Given the description of an element on the screen output the (x, y) to click on. 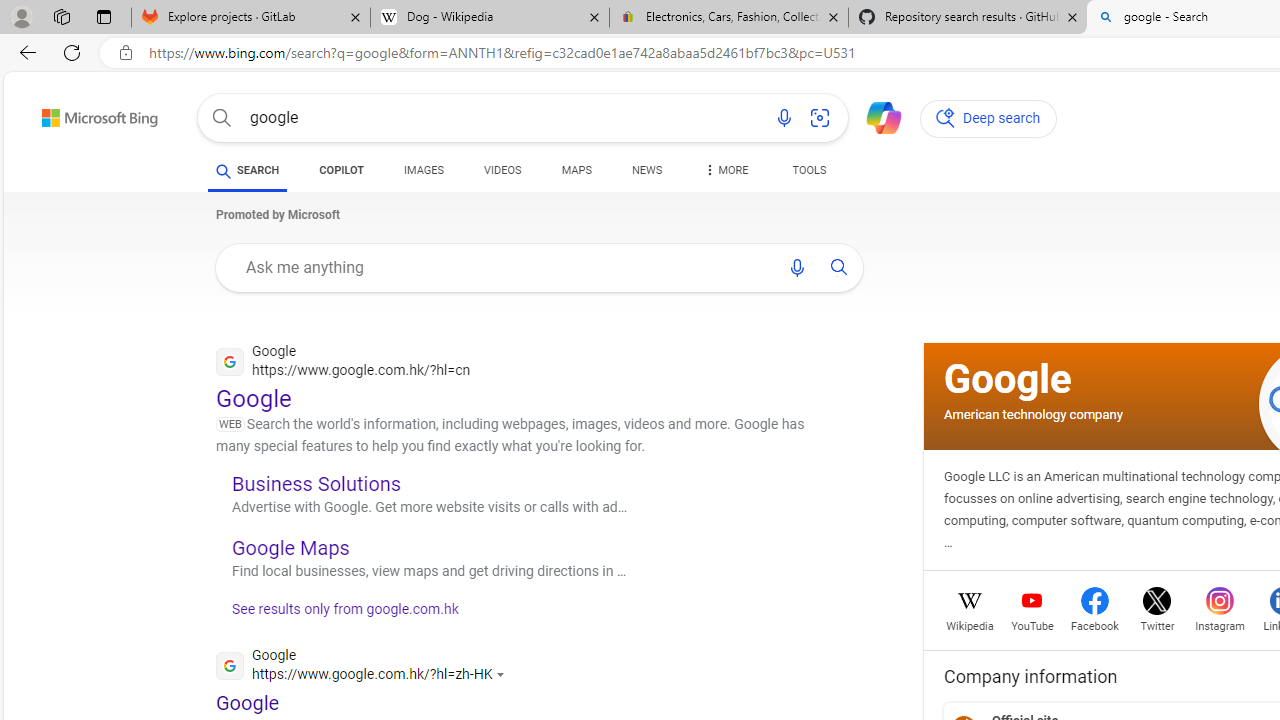
YouTube (1032, 624)
MAPS (576, 170)
Chat (875, 116)
See results only from google.com.hk (337, 614)
TOOLS (808, 173)
MORE (724, 173)
Facebook (1094, 624)
